Given the description of an element on the screen output the (x, y) to click on. 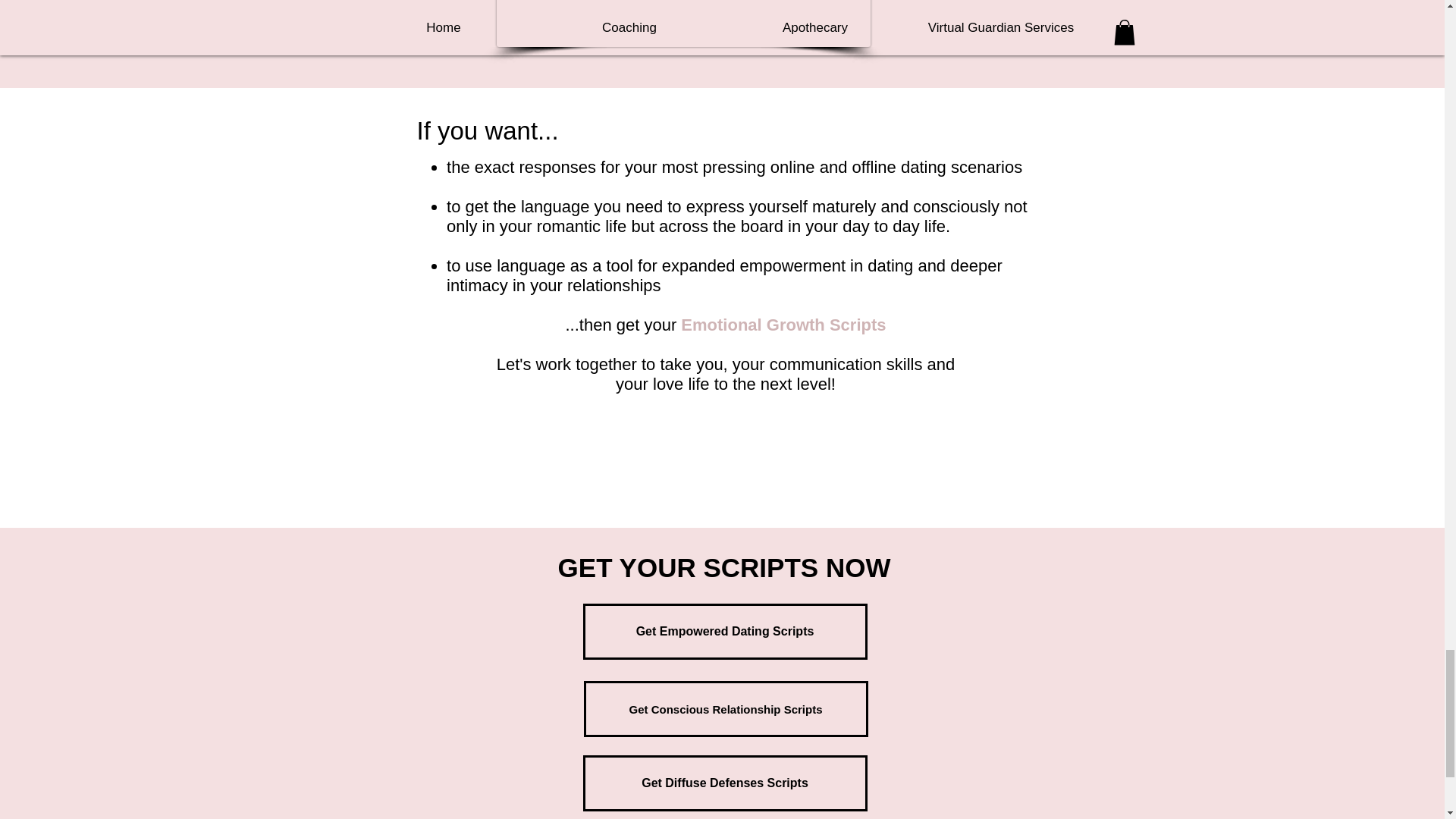
Get Empowered Dating Scripts (724, 631)
Get Conscious Relationship Scripts (725, 708)
Get Diffuse Defenses Scripts (724, 783)
